Given the description of an element on the screen output the (x, y) to click on. 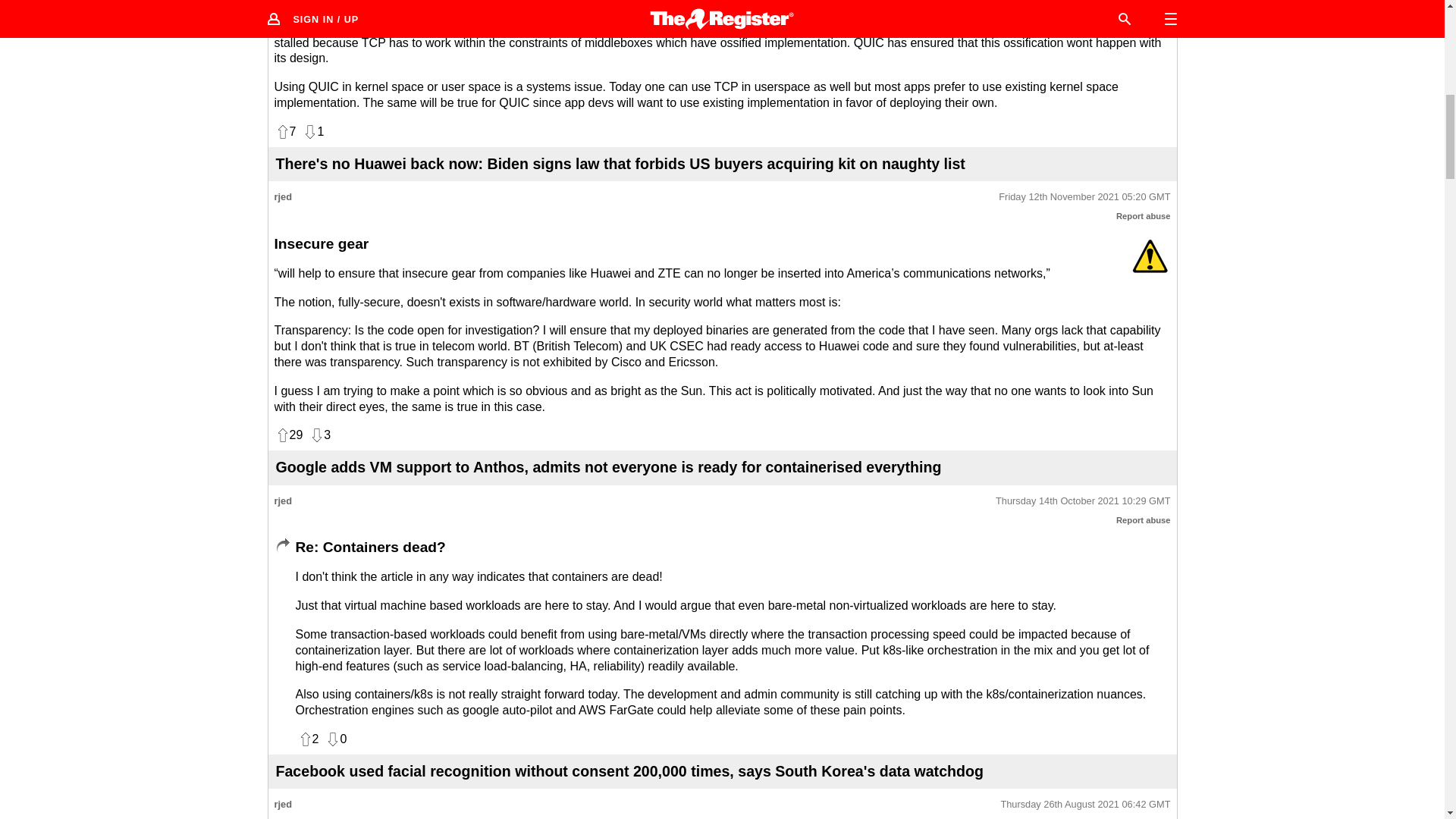
Inappropriate post? Report it to our moderators (1143, 215)
Report abuse (1143, 215)
Like this post? Vote for it! (288, 435)
Dislike this post? Vote it down! (319, 435)
Dislike this post? Vote it down! (312, 131)
Report abuse (1143, 519)
Permalink to this post (1084, 196)
Like this post? Vote for it! (286, 131)
